Given the description of an element on the screen output the (x, y) to click on. 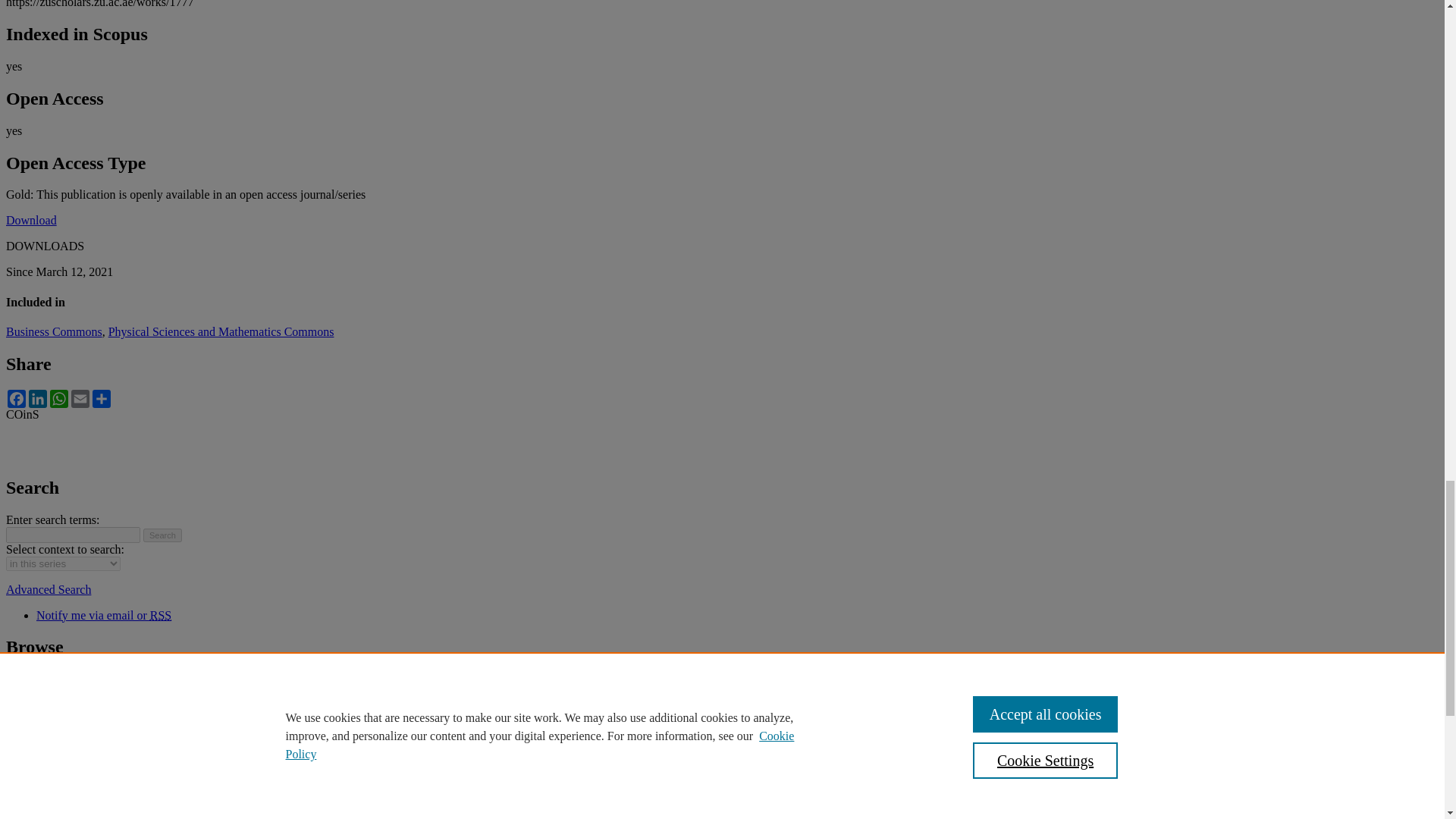
LinkedIn (37, 398)
Business Commons (53, 331)
Advanced Search (47, 589)
Search (162, 535)
Email (79, 398)
Really Simple Syndication (160, 615)
WhatsApp (58, 398)
Physical Sciences and Mathematics Commons (220, 331)
Search (162, 535)
Share (101, 398)
Email or RSS Notifications (103, 615)
Physical Sciences and Mathematics Commons (220, 331)
Business Commons (53, 331)
Browse by Disciplines (63, 747)
Search (162, 535)
